Given the description of an element on the screen output the (x, y) to click on. 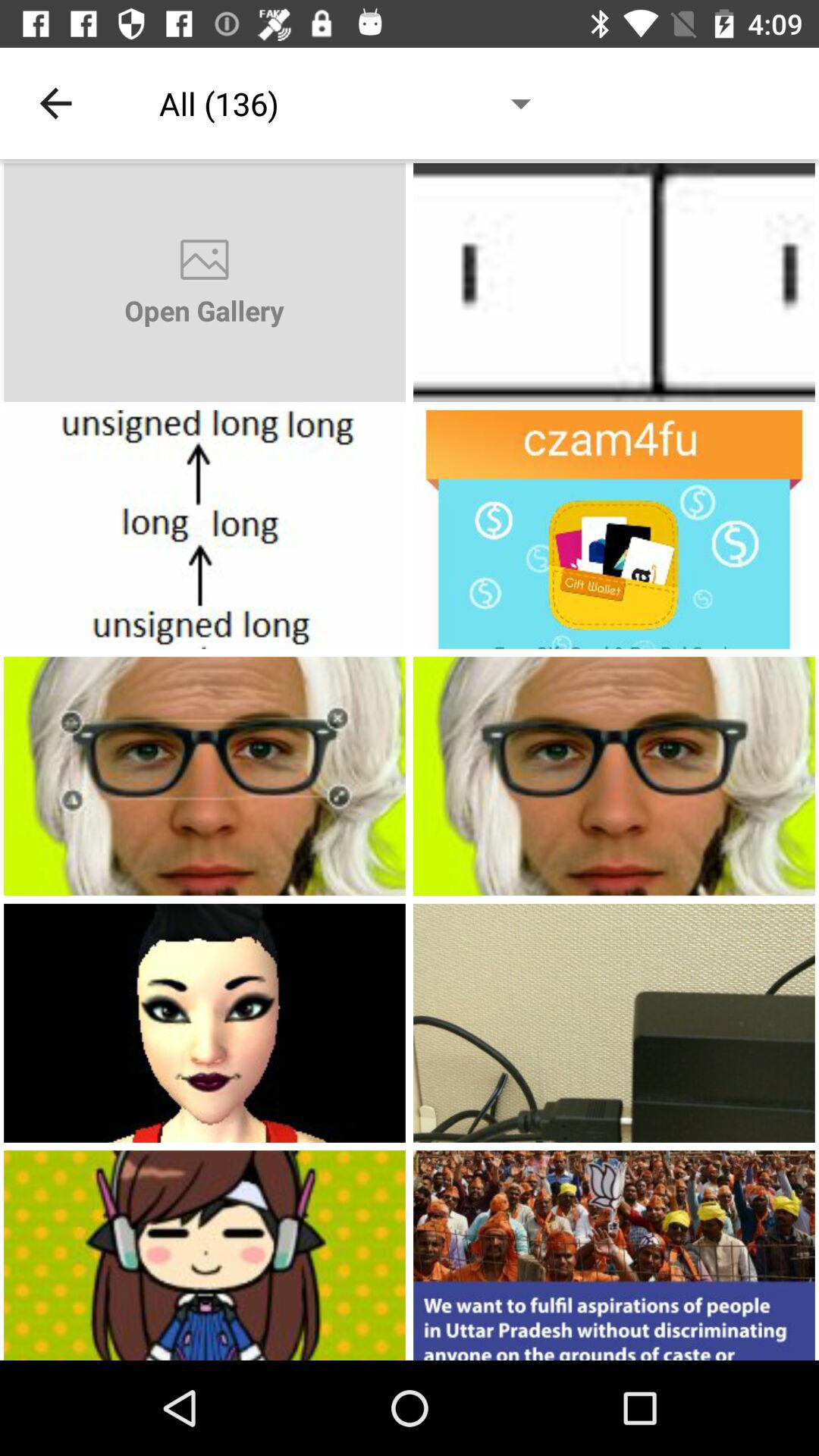
open the image (204, 1022)
